Given the description of an element on the screen output the (x, y) to click on. 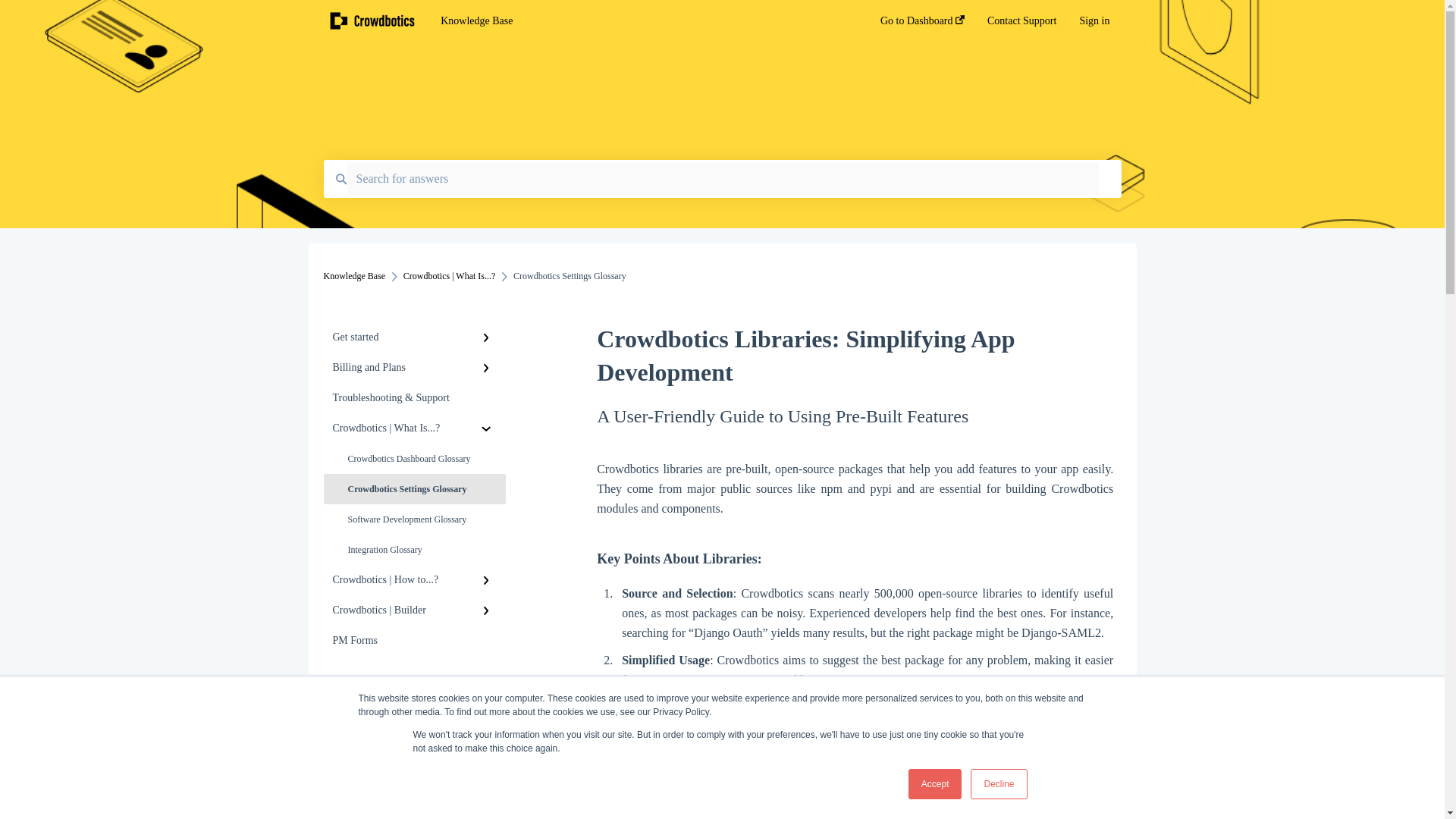
Decline (998, 784)
Accept (935, 784)
Get started (414, 337)
Knowledge Base (637, 21)
Knowledge Base (354, 276)
Go to Dashboard (921, 25)
Contact Support (1022, 25)
